Given the description of an element on the screen output the (x, y) to click on. 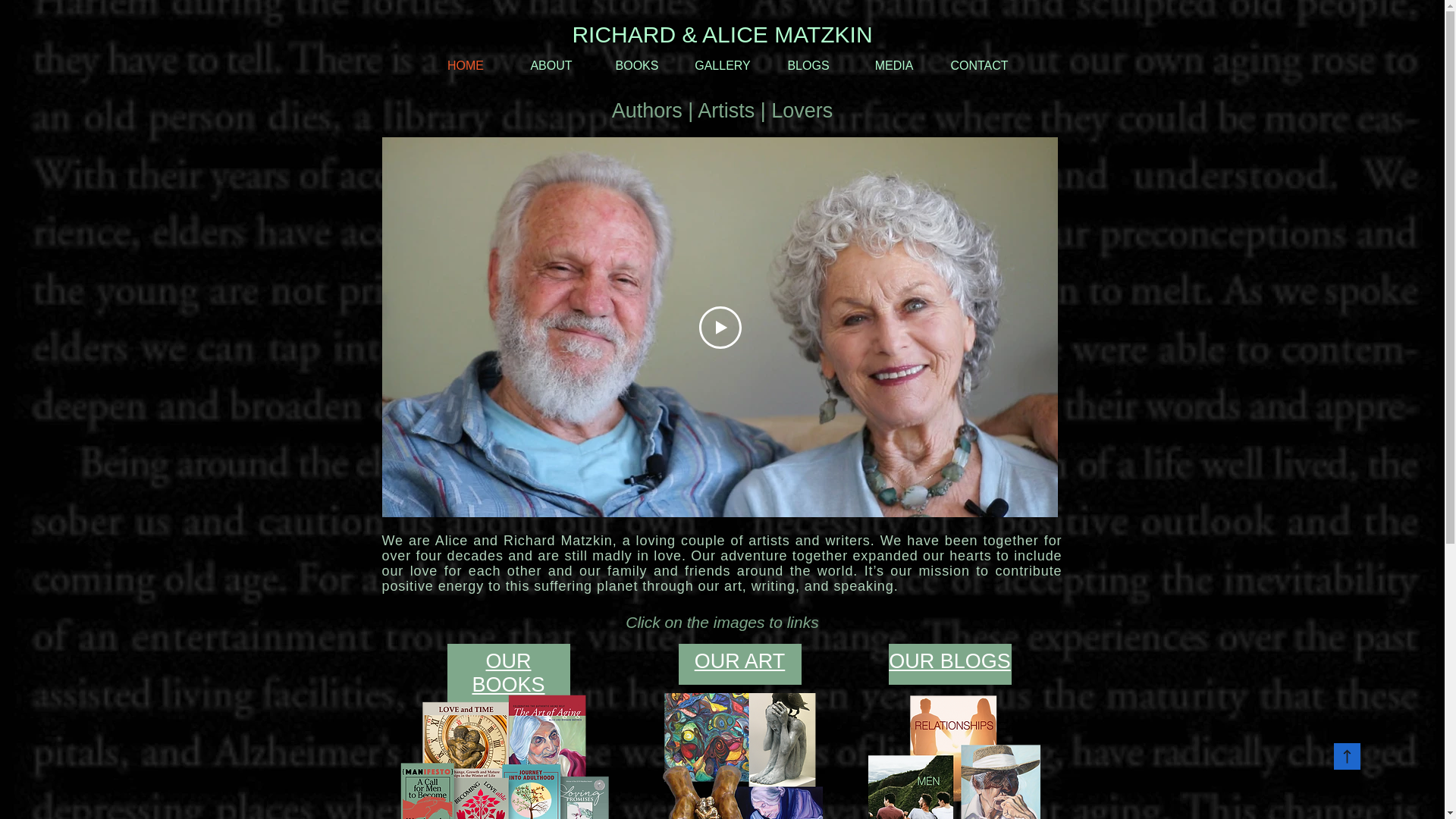
OUR BLOGS (949, 661)
ABOUT (551, 65)
OUR BOOKS (507, 673)
CONTACT (979, 65)
OUR ART (740, 661)
BLOGS (808, 65)
GALLERY (722, 65)
HOME (465, 65)
BOOKS (636, 65)
MEDIA (893, 65)
